Given the description of an element on the screen output the (x, y) to click on. 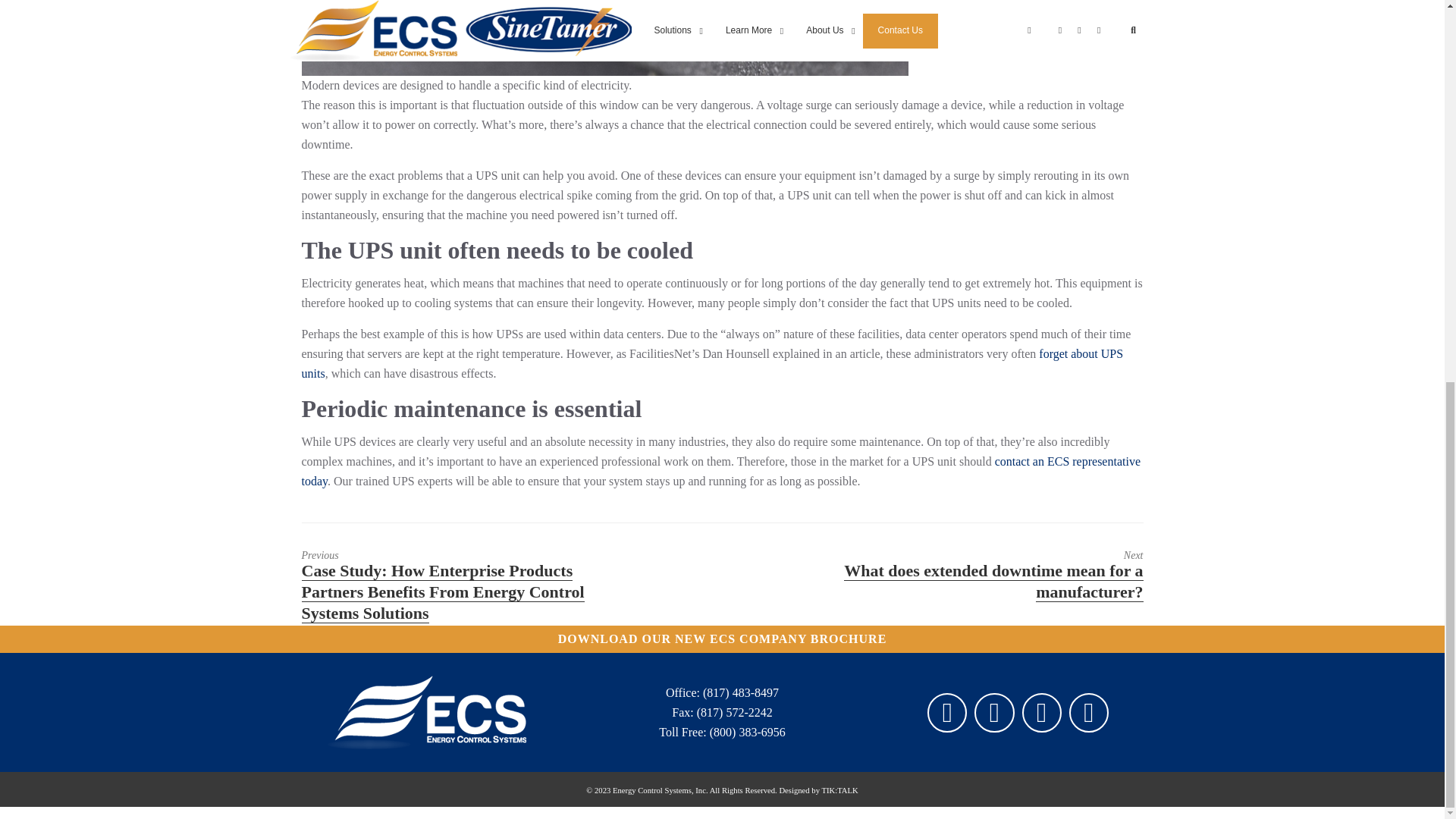
Linkedin (1041, 712)
Facebook (946, 712)
Youtube (1088, 712)
Twitter (993, 712)
